Given the description of an element on the screen output the (x, y) to click on. 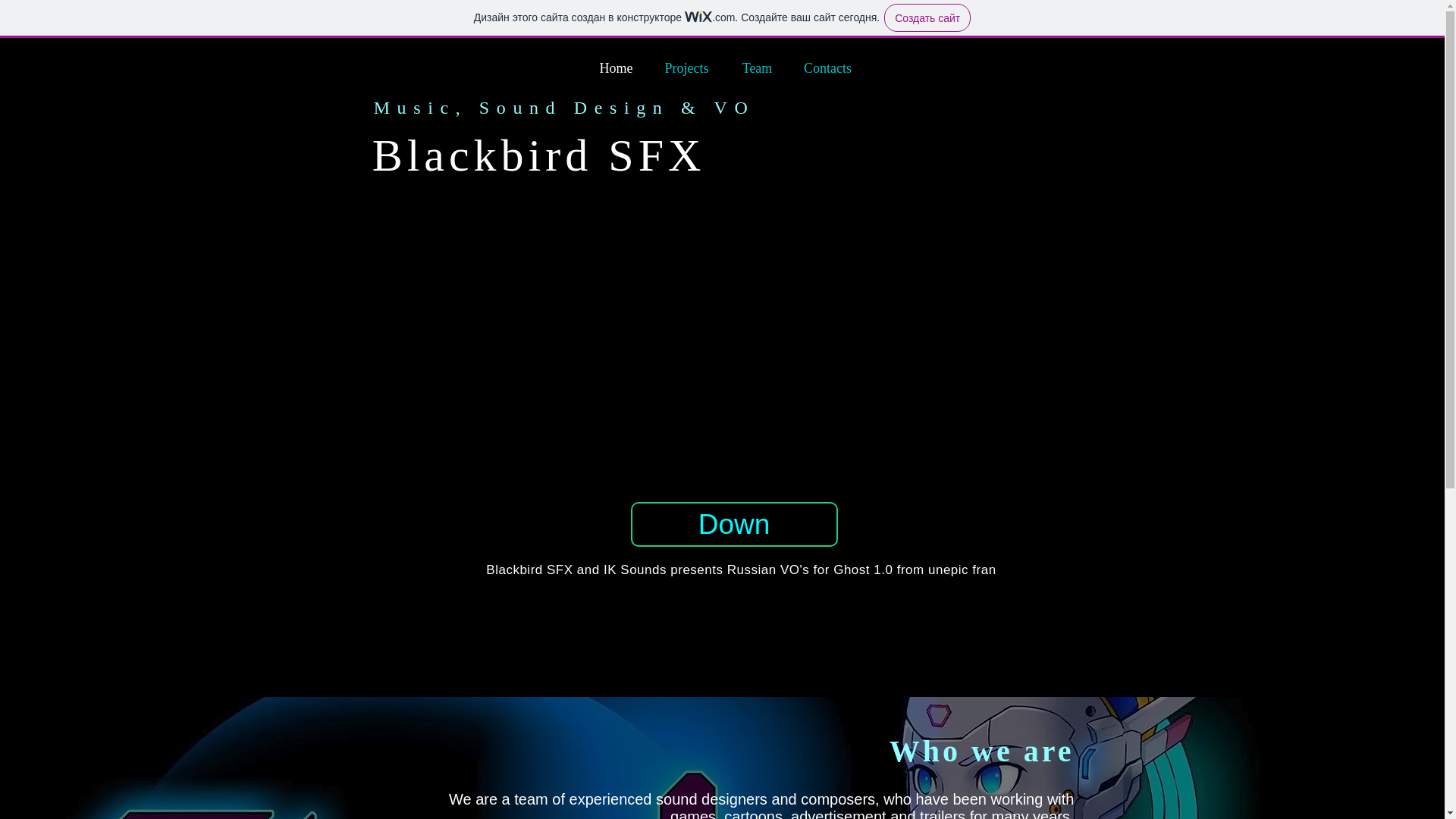
Contacts (827, 67)
Projects (686, 67)
Team (757, 67)
Down (734, 524)
Home (615, 67)
